Given the description of an element on the screen output the (x, y) to click on. 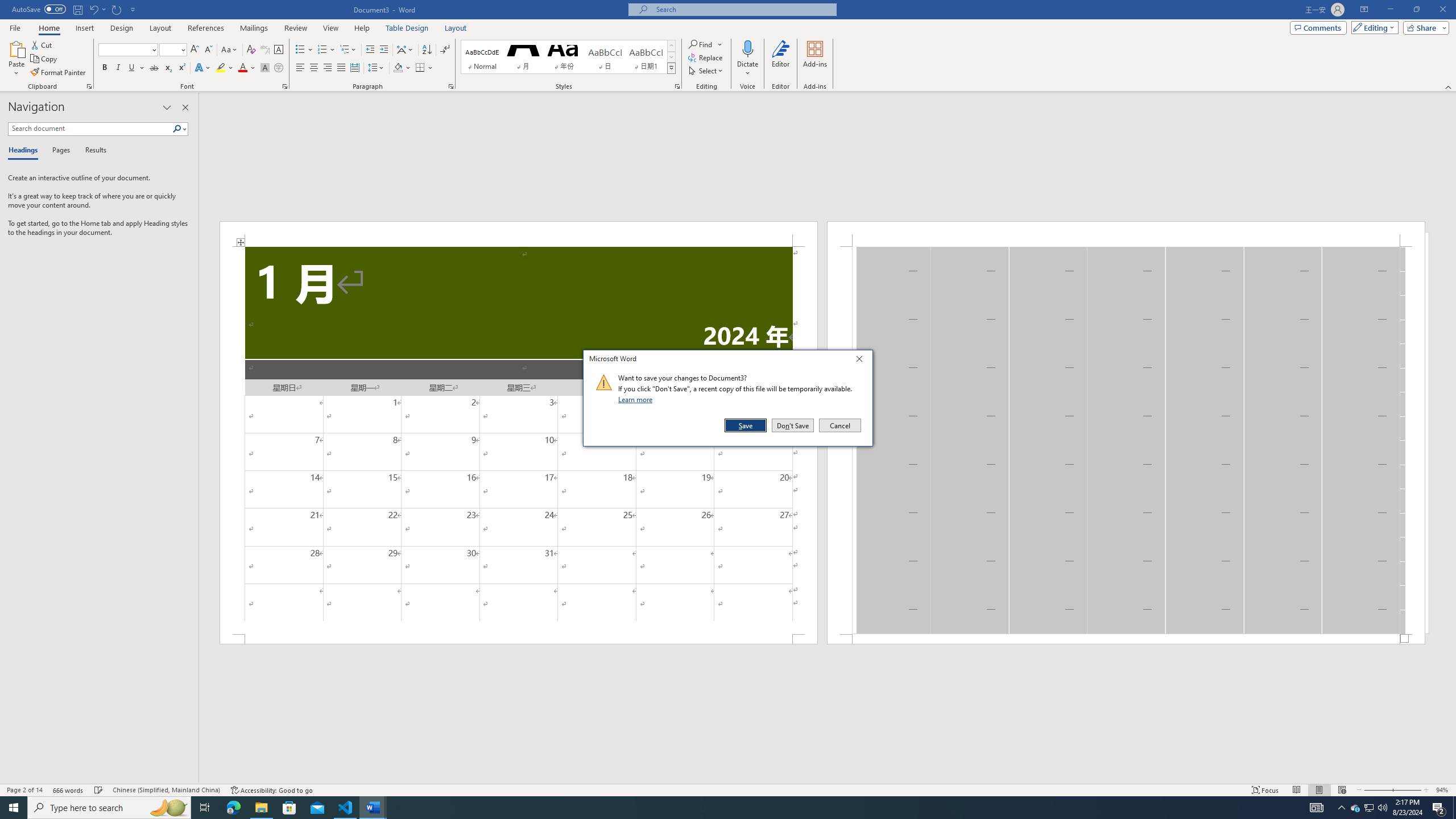
Paragraph... (450, 85)
Copy (45, 58)
